Given the description of an element on the screen output the (x, y) to click on. 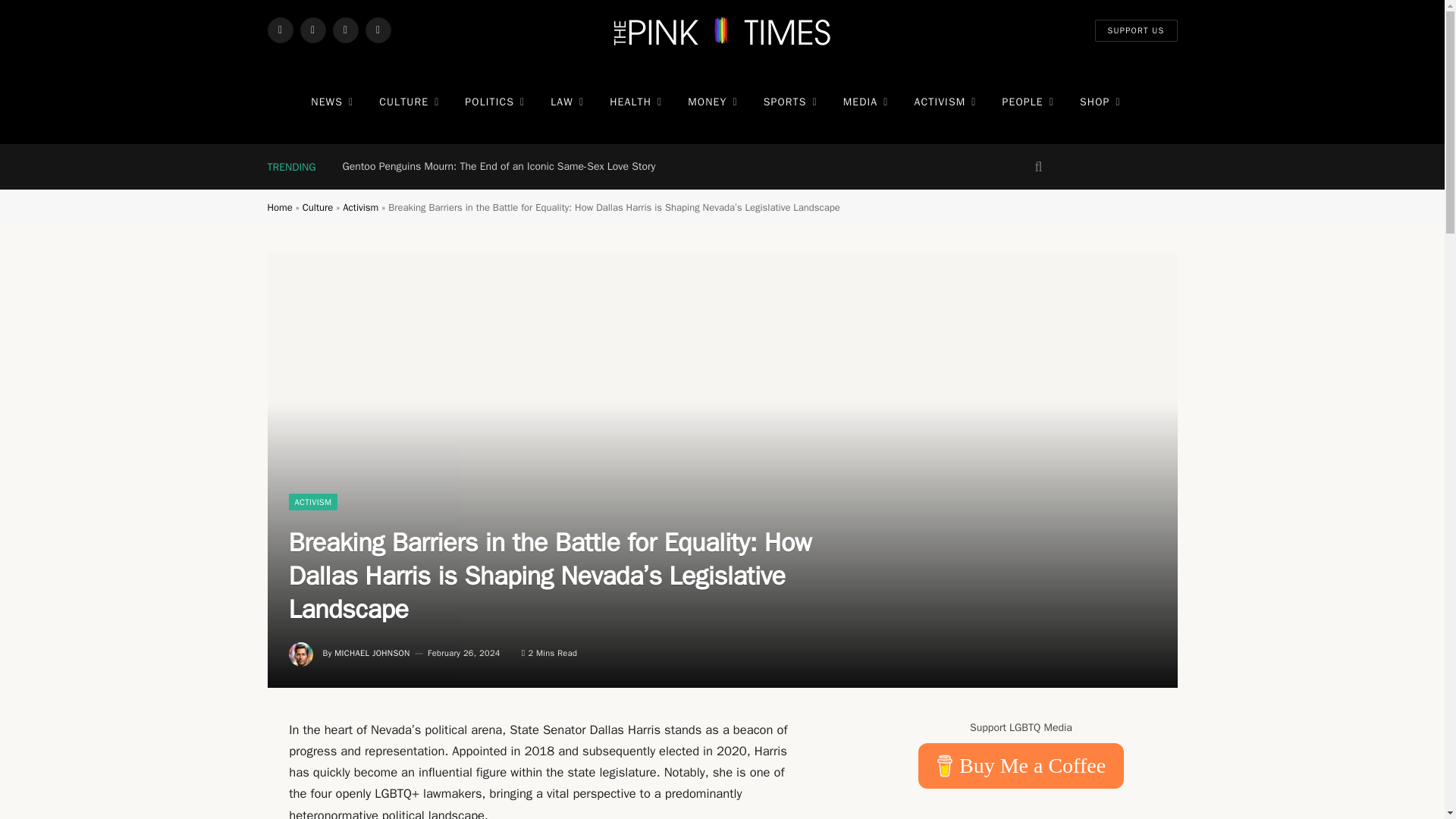
The Pink Times (721, 30)
SUPPORT US (1135, 30)
Instagram (344, 30)
LinkedIn (378, 30)
Facebook (279, 30)
